Given the description of an element on the screen output the (x, y) to click on. 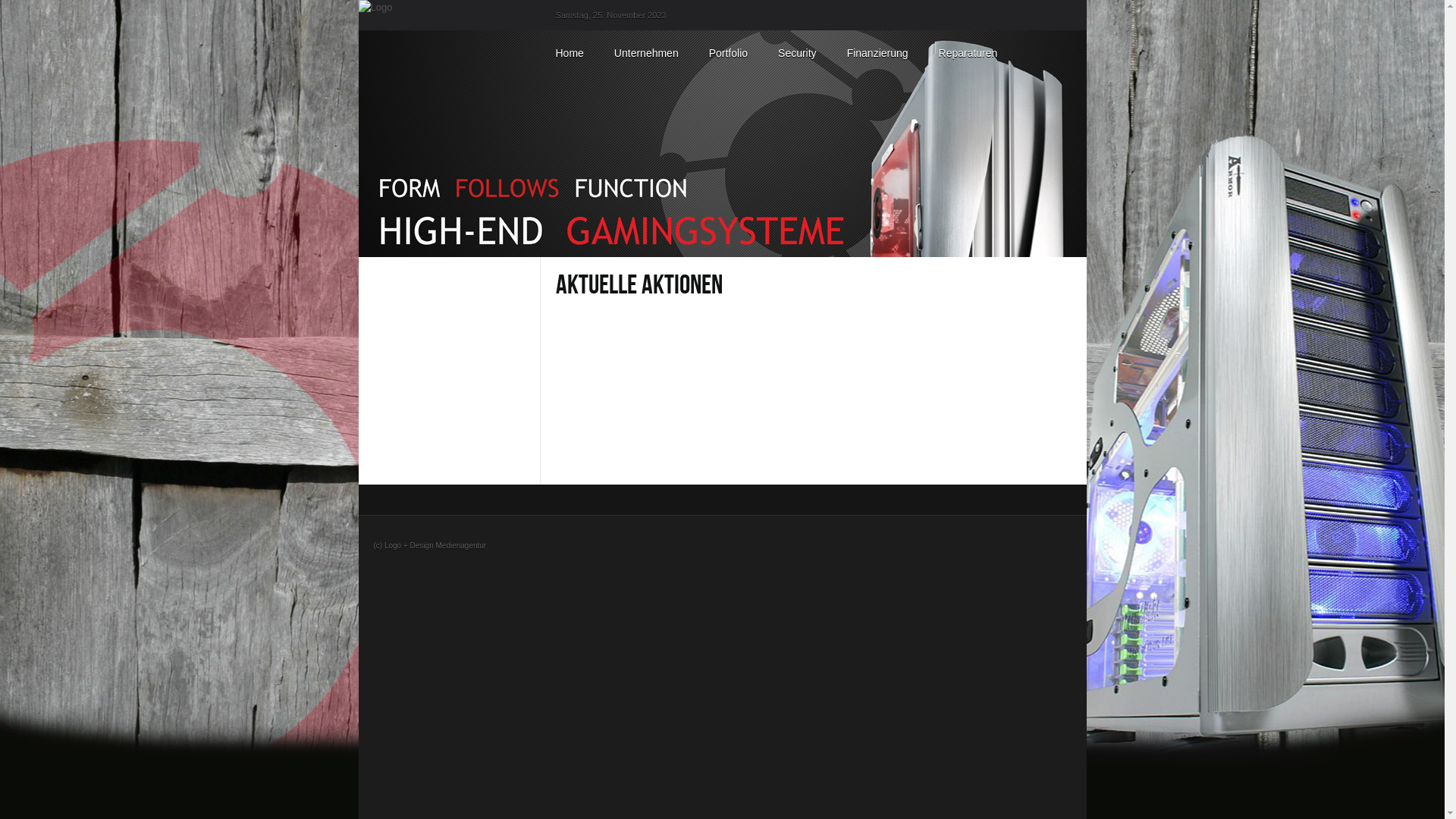
Reparaturen Element type: text (968, 52)
Finanzierung Element type: text (877, 52)
Home Element type: text (568, 52)
